Given the description of an element on the screen output the (x, y) to click on. 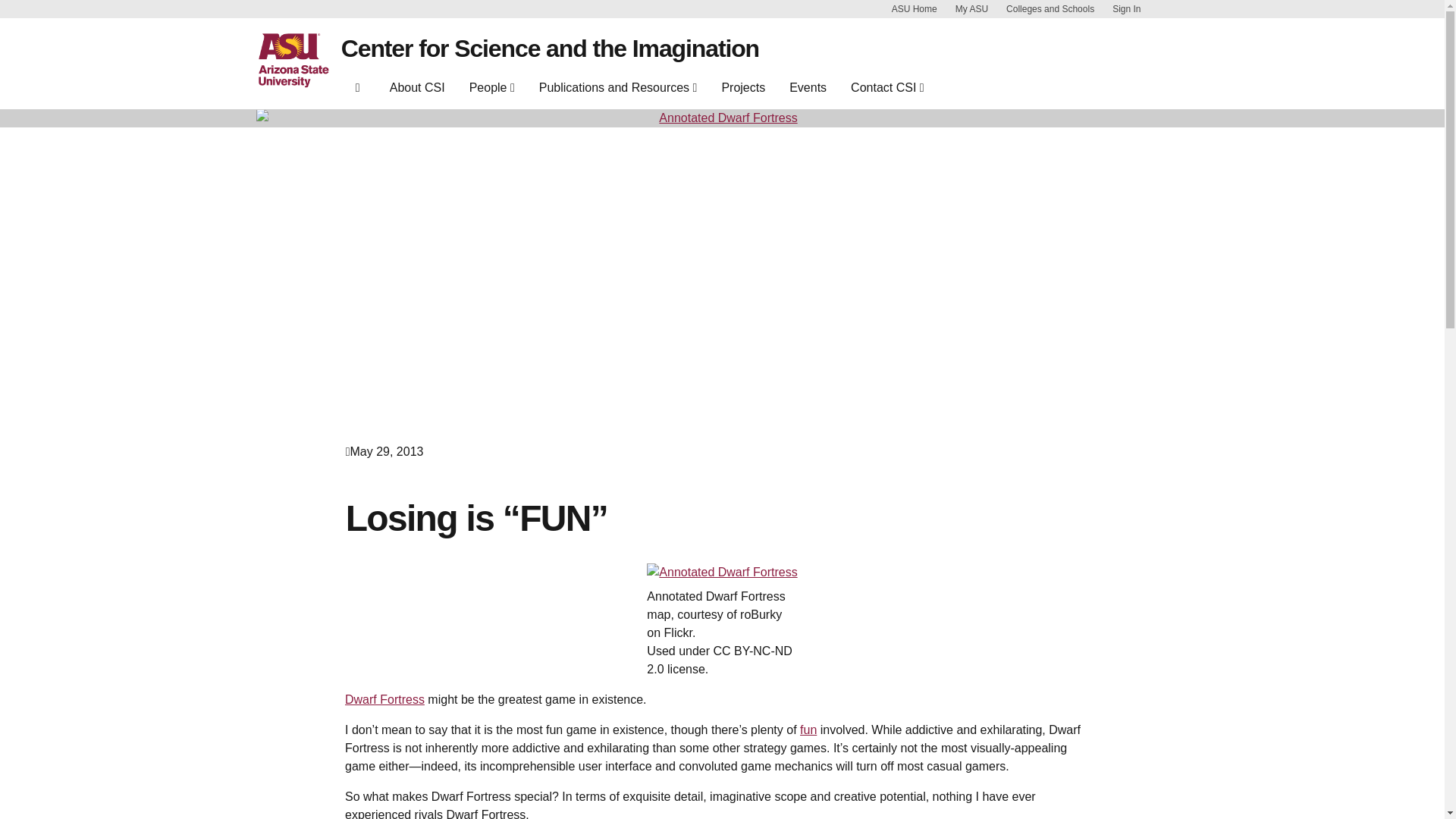
About CSI (417, 90)
Contact CSI (887, 87)
Events (807, 90)
Projects (742, 90)
Dwarf Fortress (385, 698)
About CSI (417, 90)
People (492, 87)
Colleges and Schools (1050, 8)
Projects (742, 90)
My ASU (971, 8)
Sign In (1126, 8)
Events (807, 90)
Center for Science and the Imagination (549, 48)
Skip to Content (1164, 8)
Publications and Resources (617, 87)
